Given the description of an element on the screen output the (x, y) to click on. 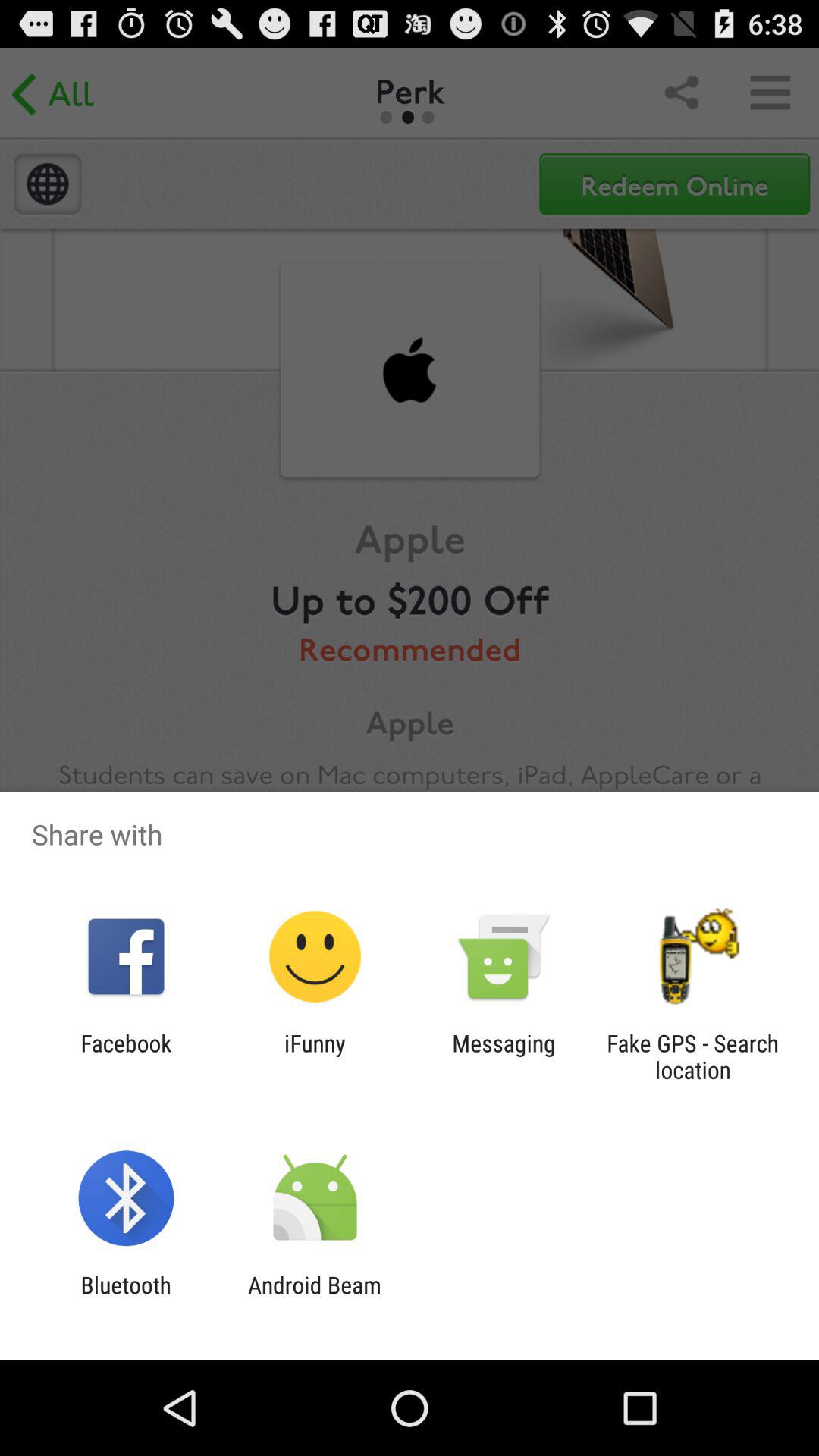
launch app to the right of bluetooth app (314, 1298)
